Given the description of an element on the screen output the (x, y) to click on. 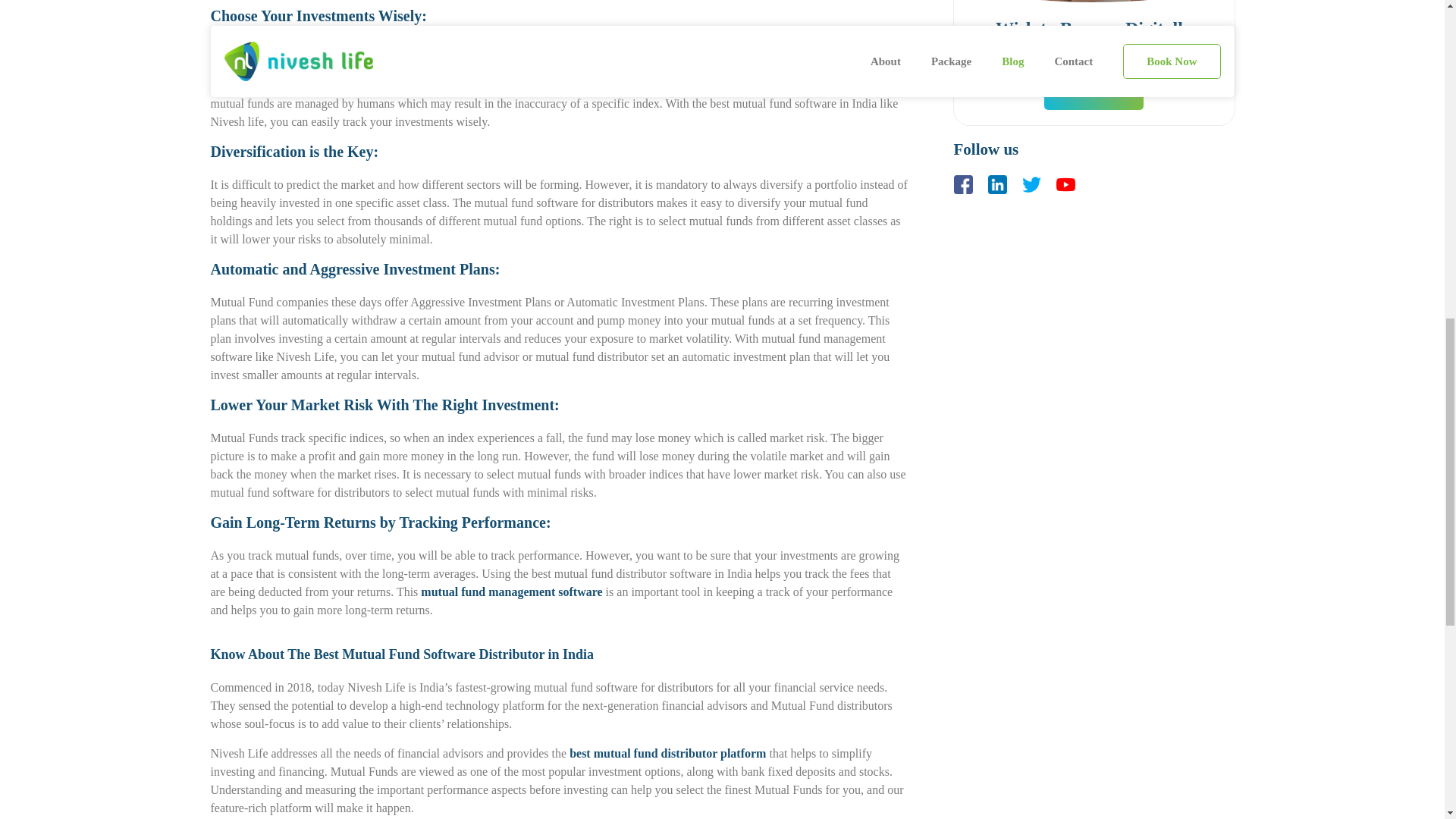
Book Now (1092, 92)
Nivesh life (237, 122)
mutual fund management software (511, 592)
